Given the description of an element on the screen output the (x, y) to click on. 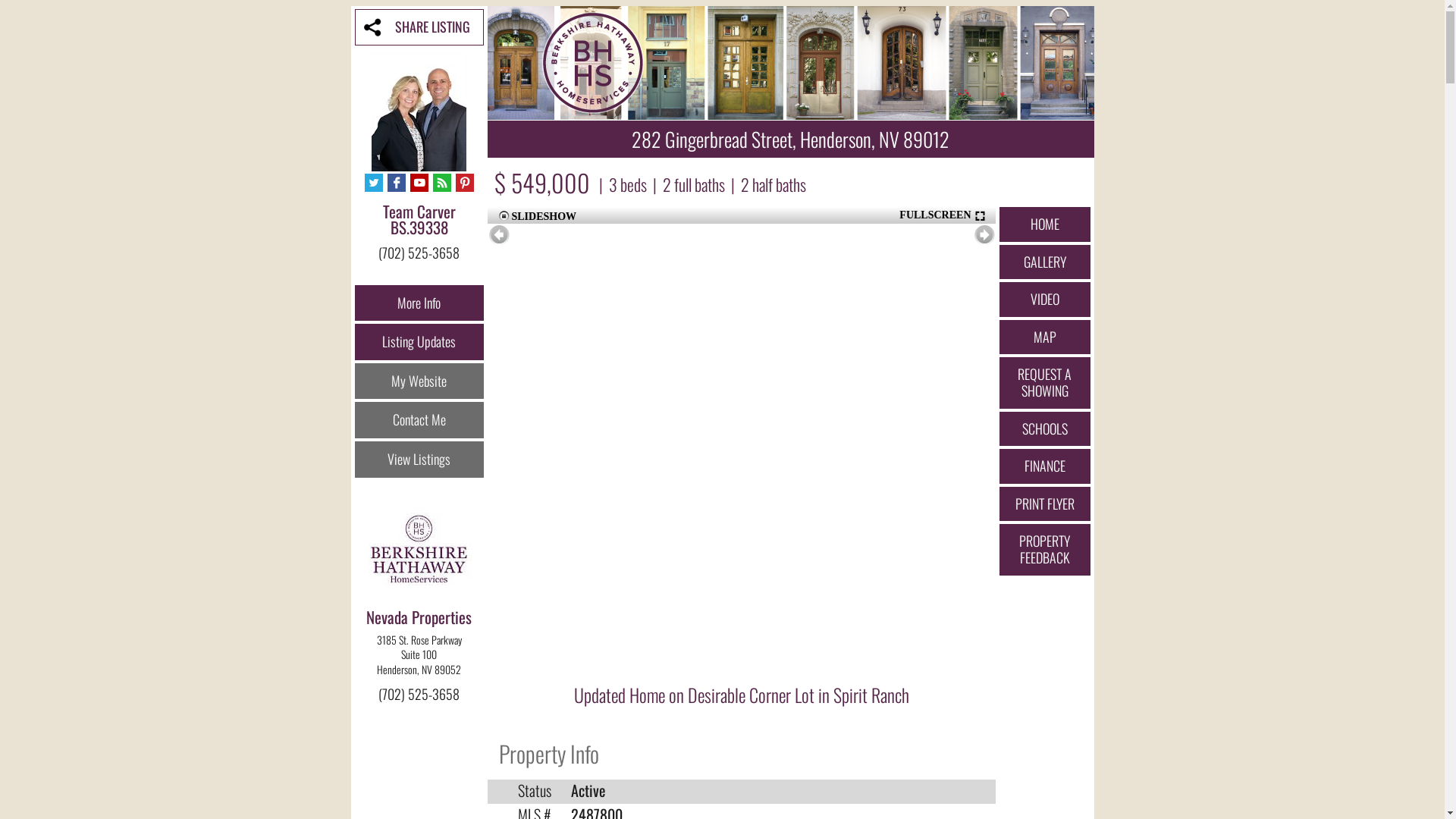
SHARE LISTING Element type: text (418, 27)
View Listings Element type: text (418, 459)
Nevada Properties Element type: text (418, 616)
HOME Element type: text (1044, 224)
Contact Me Element type: text (418, 419)
VIDEO Element type: text (1044, 299)
MAP Element type: text (1044, 337)
FINANCE Element type: text (1044, 465)
GALLERY Element type: text (1044, 261)
Listing Updates Element type: text (418, 341)
PRINT FLYER Element type: text (1044, 503)
SCHOOLS Element type: text (1044, 428)
PROPERTY FEEDBACK Element type: text (1044, 549)
More Info Element type: text (418, 303)
My Website Element type: text (418, 381)
Team Carver
BS.39338 Element type: text (418, 227)
REQUEST A SHOWING Element type: text (1044, 382)
